Given the description of an element on the screen output the (x, y) to click on. 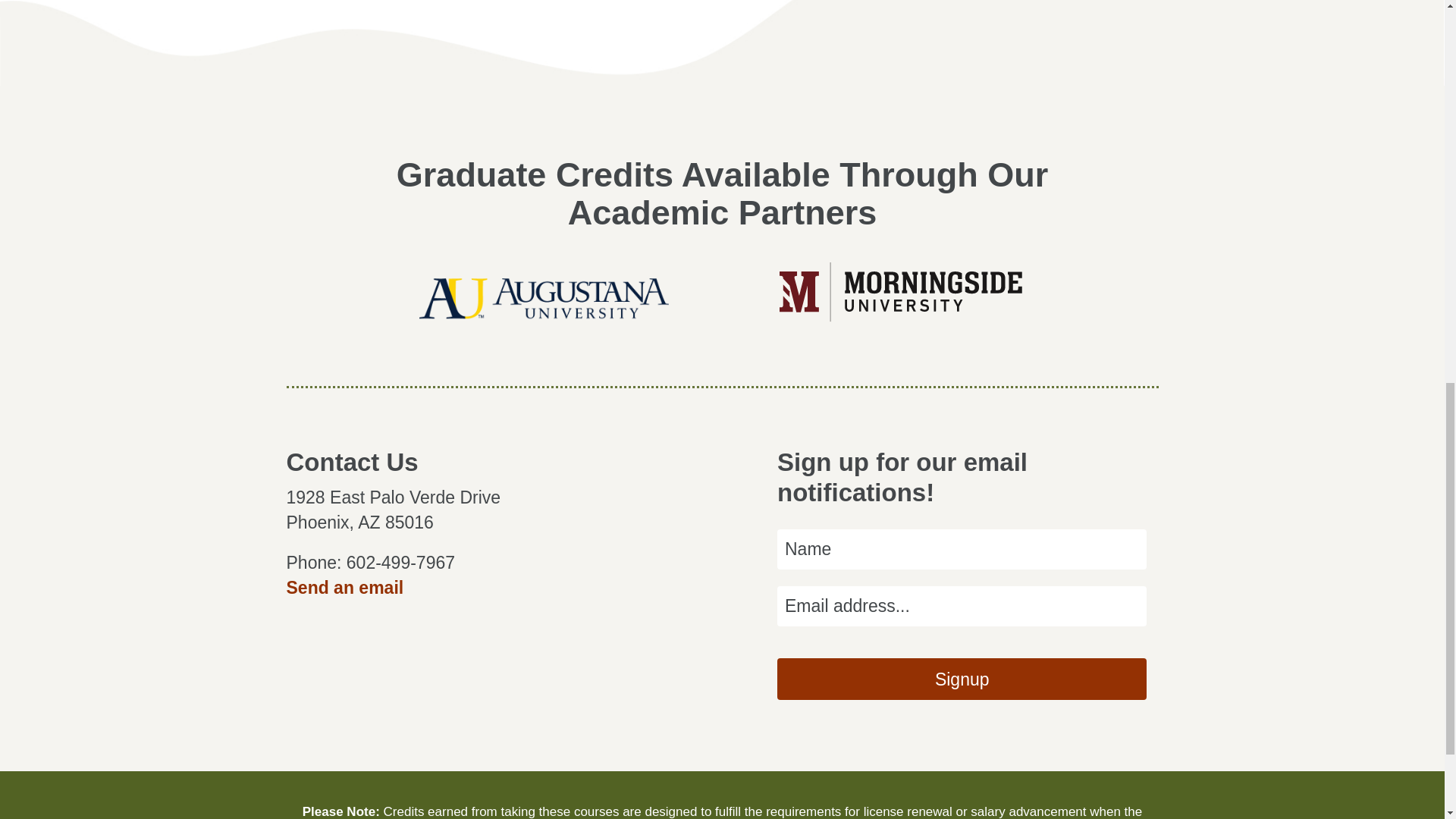
Signup (962, 679)
Signup (962, 679)
602-499-7967 (400, 562)
Send an email (345, 587)
